Given the description of an element on the screen output the (x, y) to click on. 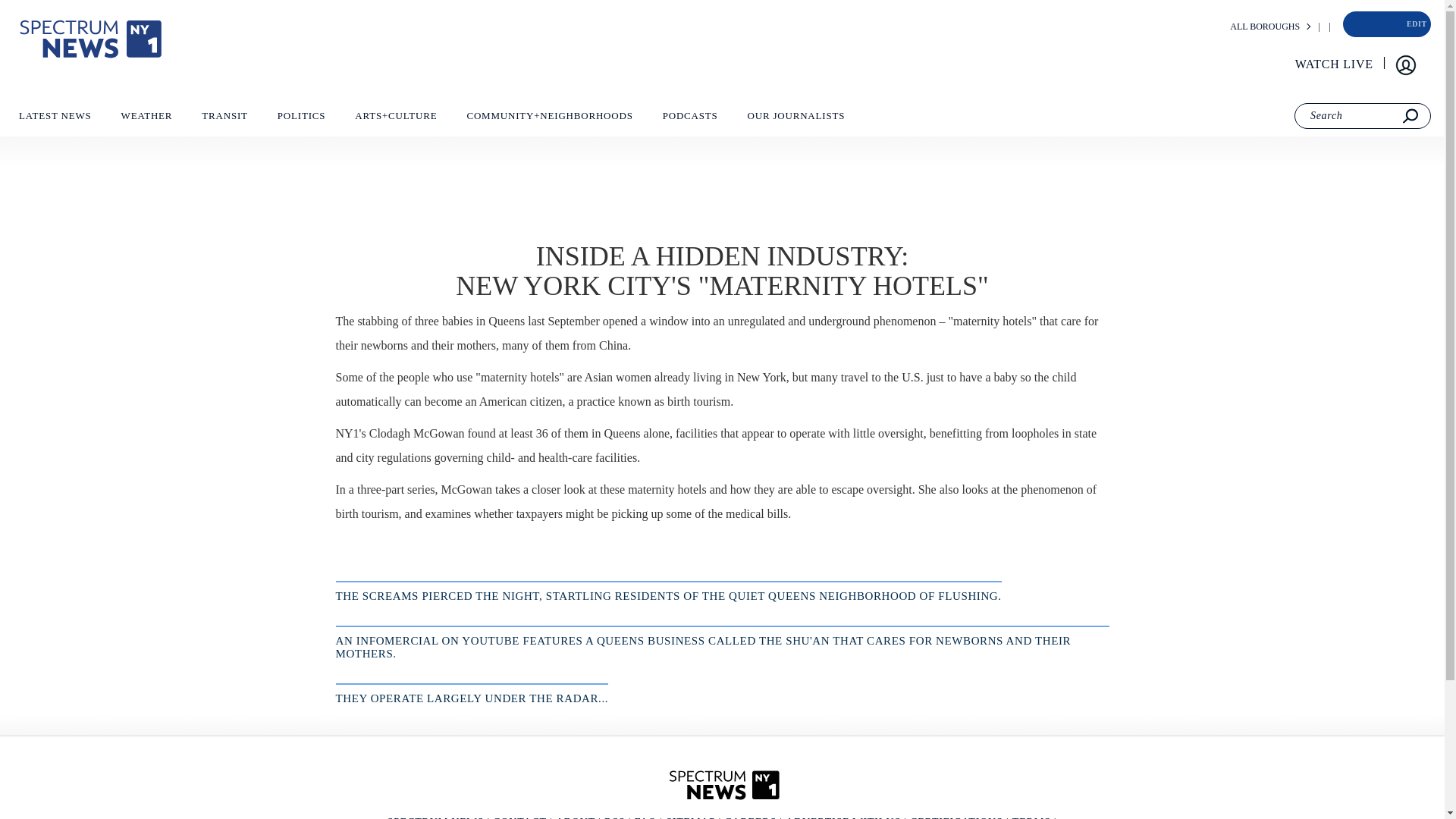
ALL BOROUGHS (1265, 26)
TRANSIT (224, 119)
LATEST NEWS (55, 119)
WEATHER (146, 119)
WATCH LIVE (1334, 64)
